Given the description of an element on the screen output the (x, y) to click on. 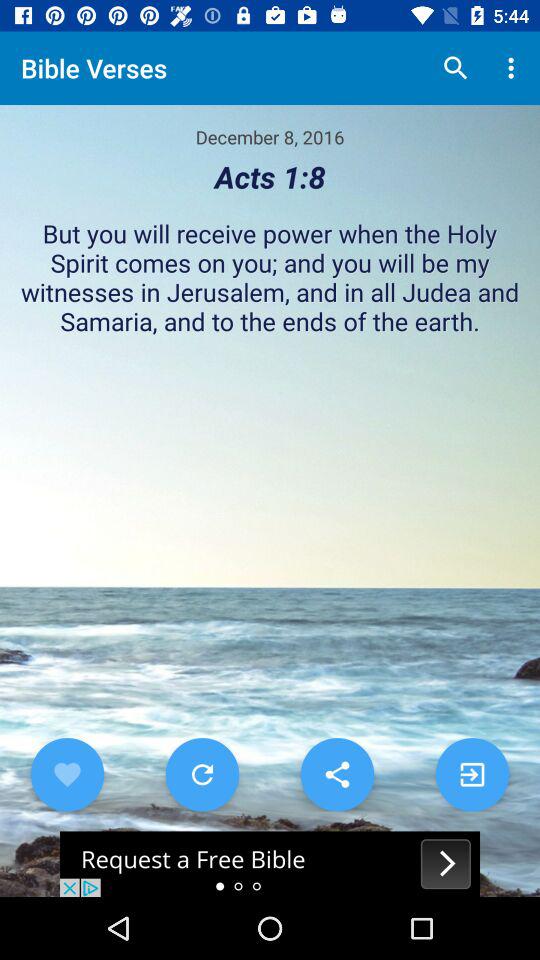
toggle favorite (67, 774)
